Given the description of an element on the screen output the (x, y) to click on. 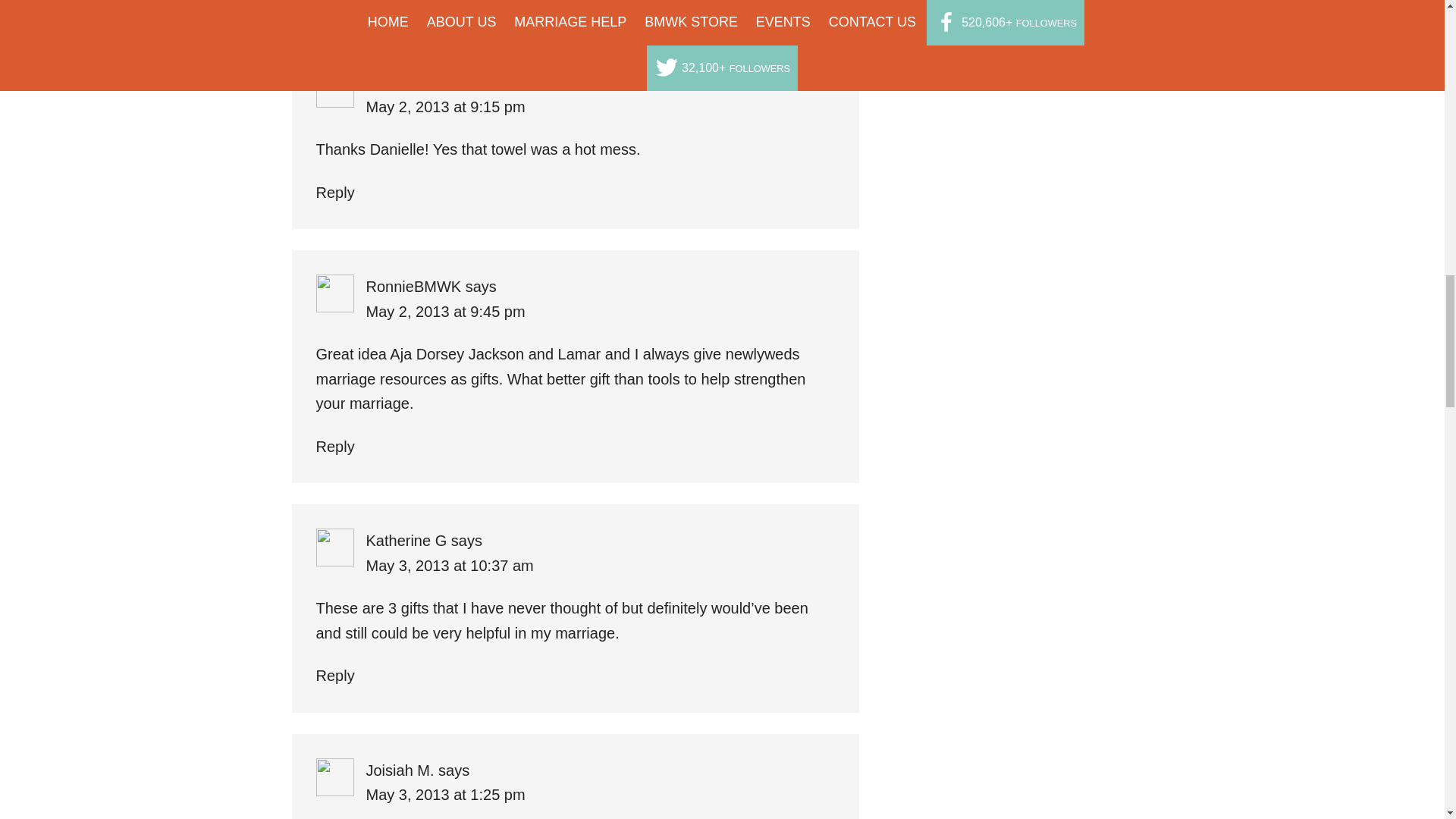
May 2, 2013 at 9:15 pm (444, 106)
Reply (334, 192)
